Given the description of an element on the screen output the (x, y) to click on. 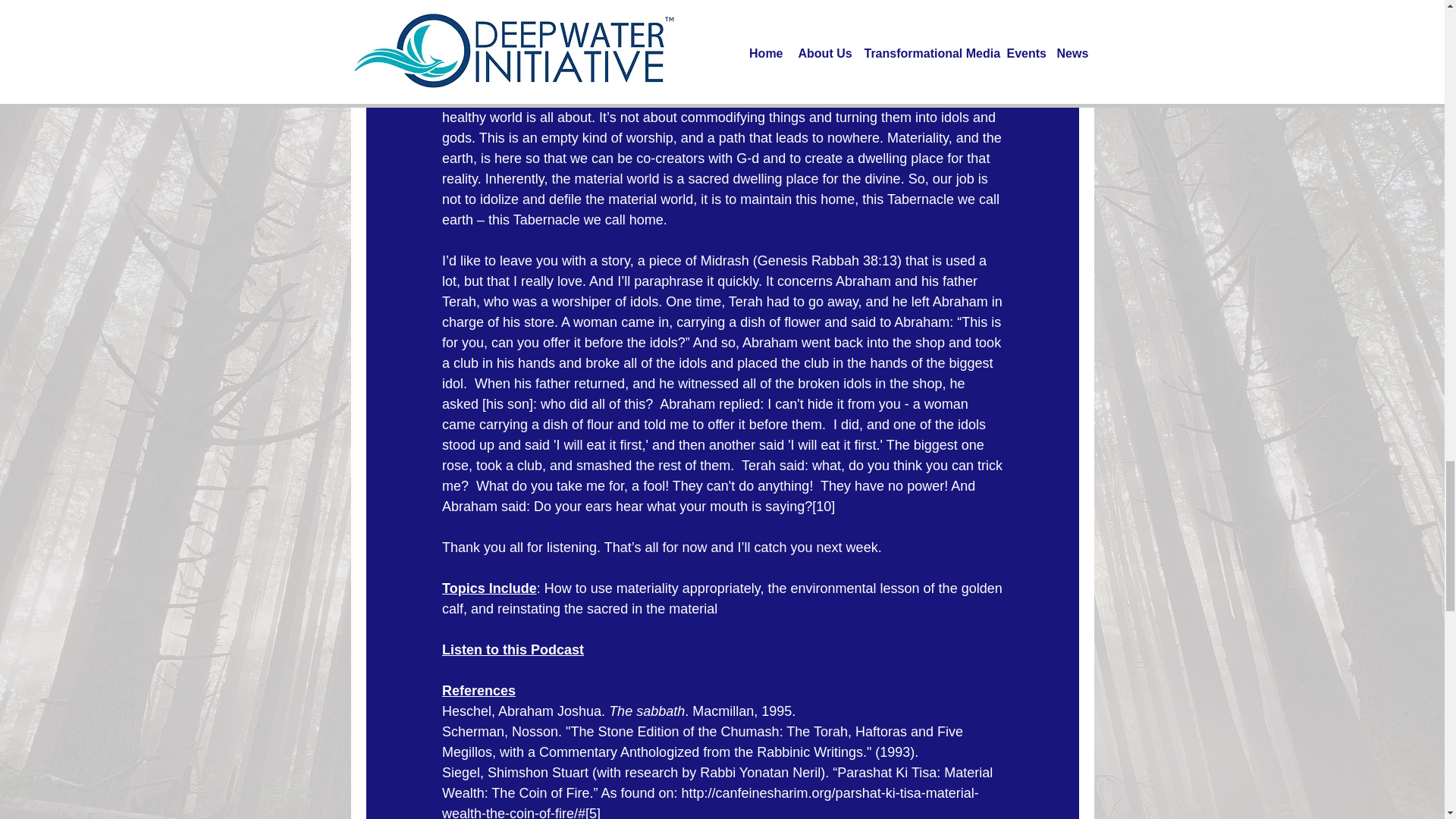
Listen to this Podcast (512, 649)
